Given the description of an element on the screen output the (x, y) to click on. 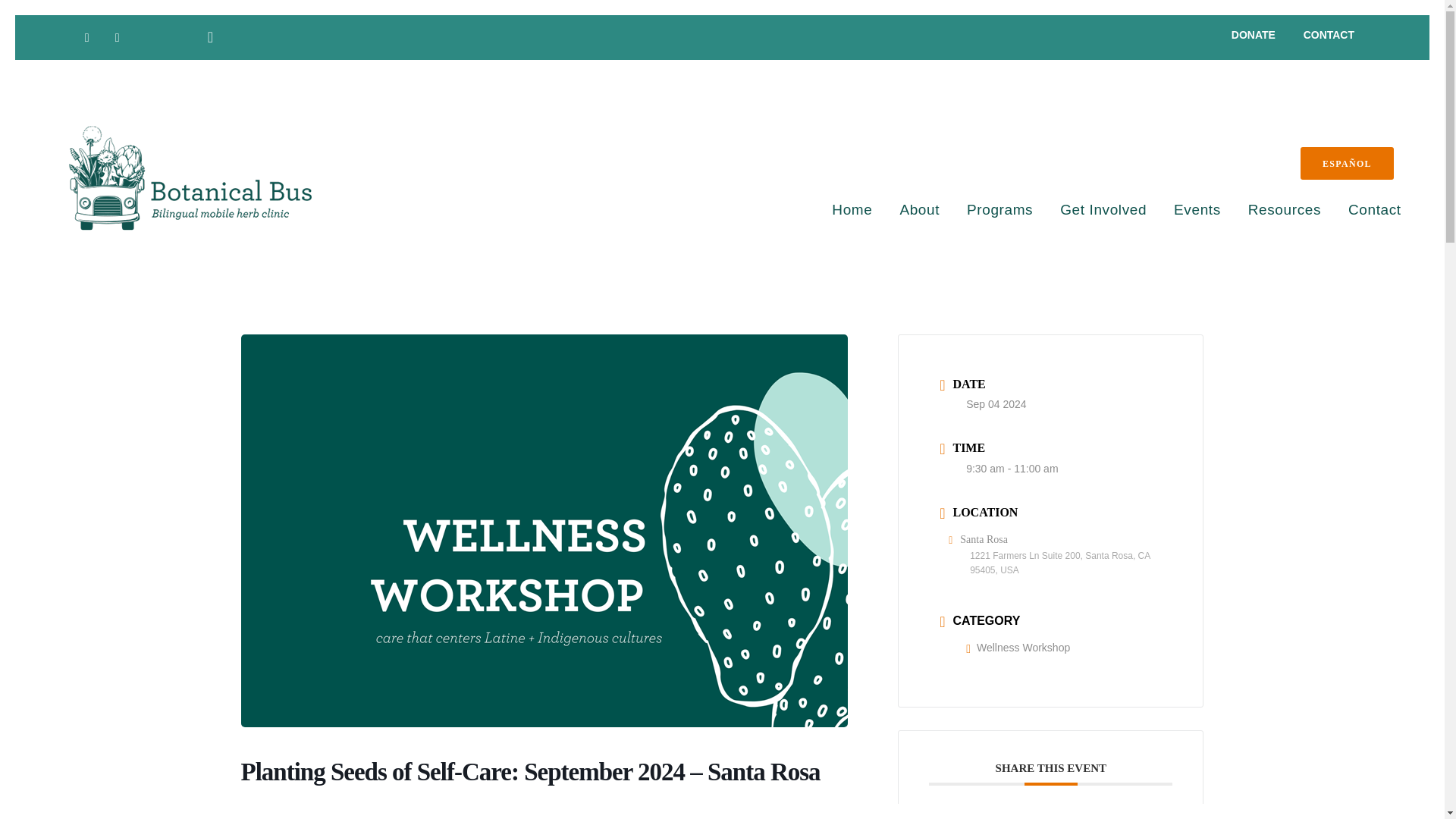
Home (838, 209)
Resources (1270, 209)
Programs (985, 209)
About (905, 209)
Share on Facebook (997, 817)
Email (1099, 817)
Get Involved (1089, 209)
The Botanical Bus (190, 178)
CONTACT (1321, 35)
X Social Network (1031, 817)
Linkedin (1066, 817)
Events (1184, 209)
DONATE (1259, 35)
